Given the description of an element on the screen output the (x, y) to click on. 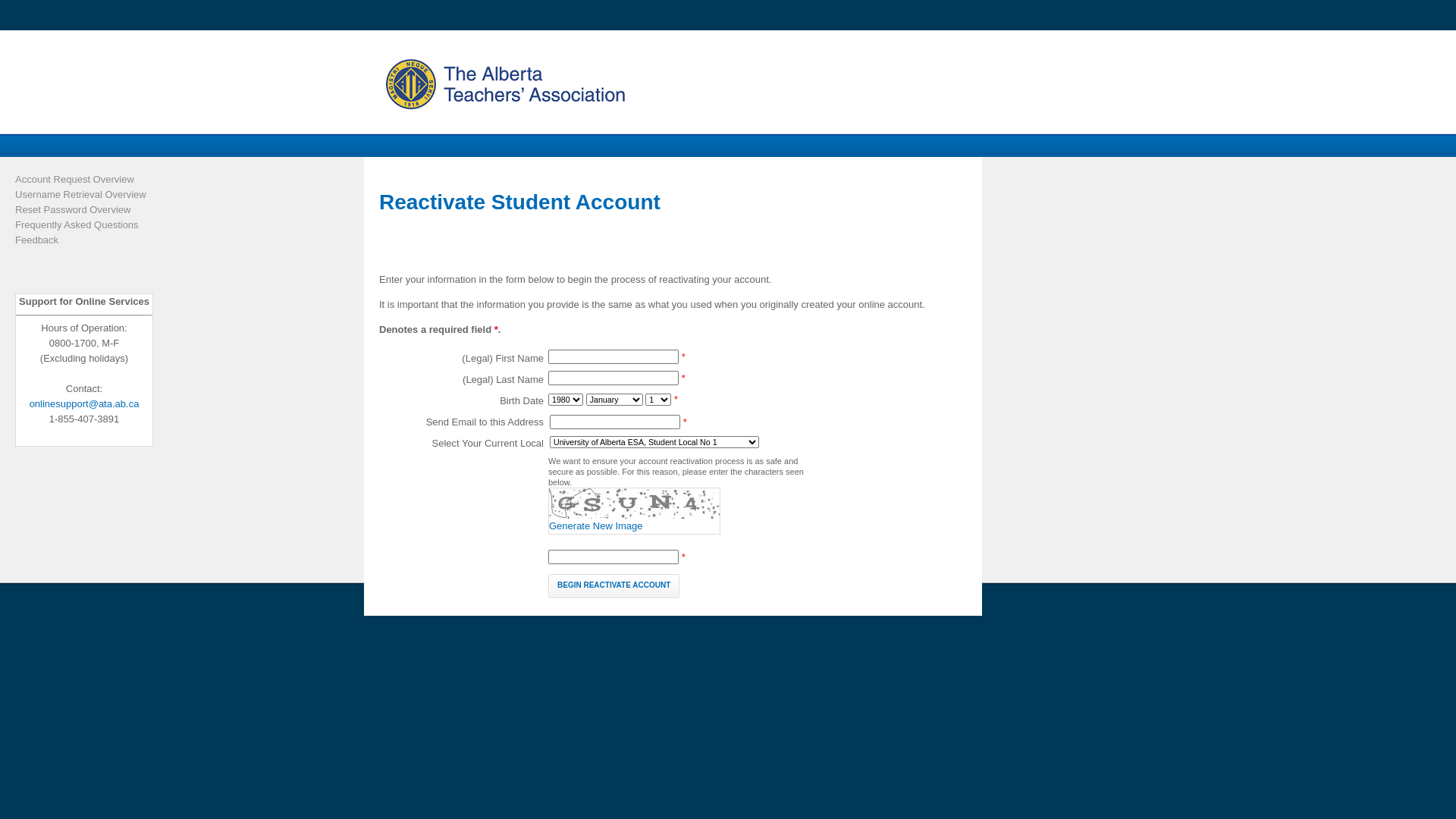
Username Retrieval Overview Element type: text (90, 194)
BEGIN REACTIVATE ACCOUNT Element type: text (613, 586)
Reset Password Overview Element type: text (90, 209)
Frequently Asked Questions Element type: text (90, 224)
Generate New Image Element type: text (634, 525)
Feedback Element type: text (90, 239)
Account Request Overview Element type: text (90, 179)
onlinesupport@ata.ab.ca Element type: text (84, 403)
